Given the description of an element on the screen output the (x, y) to click on. 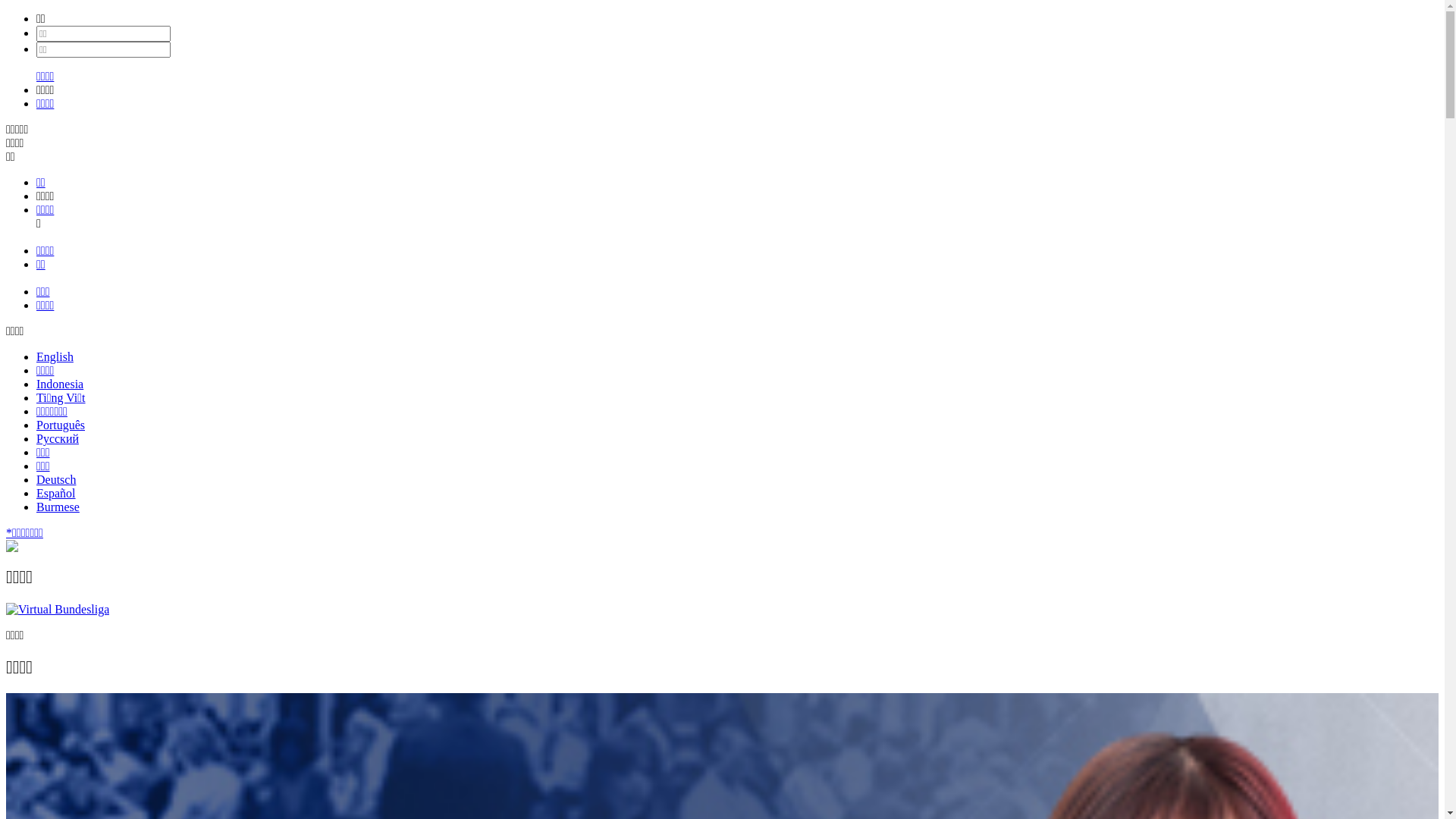
Deutsch Element type: text (55, 479)
Burmese Element type: text (57, 506)
Indonesia Element type: text (59, 383)
English Element type: text (54, 356)
